Given the description of an element on the screen output the (x, y) to click on. 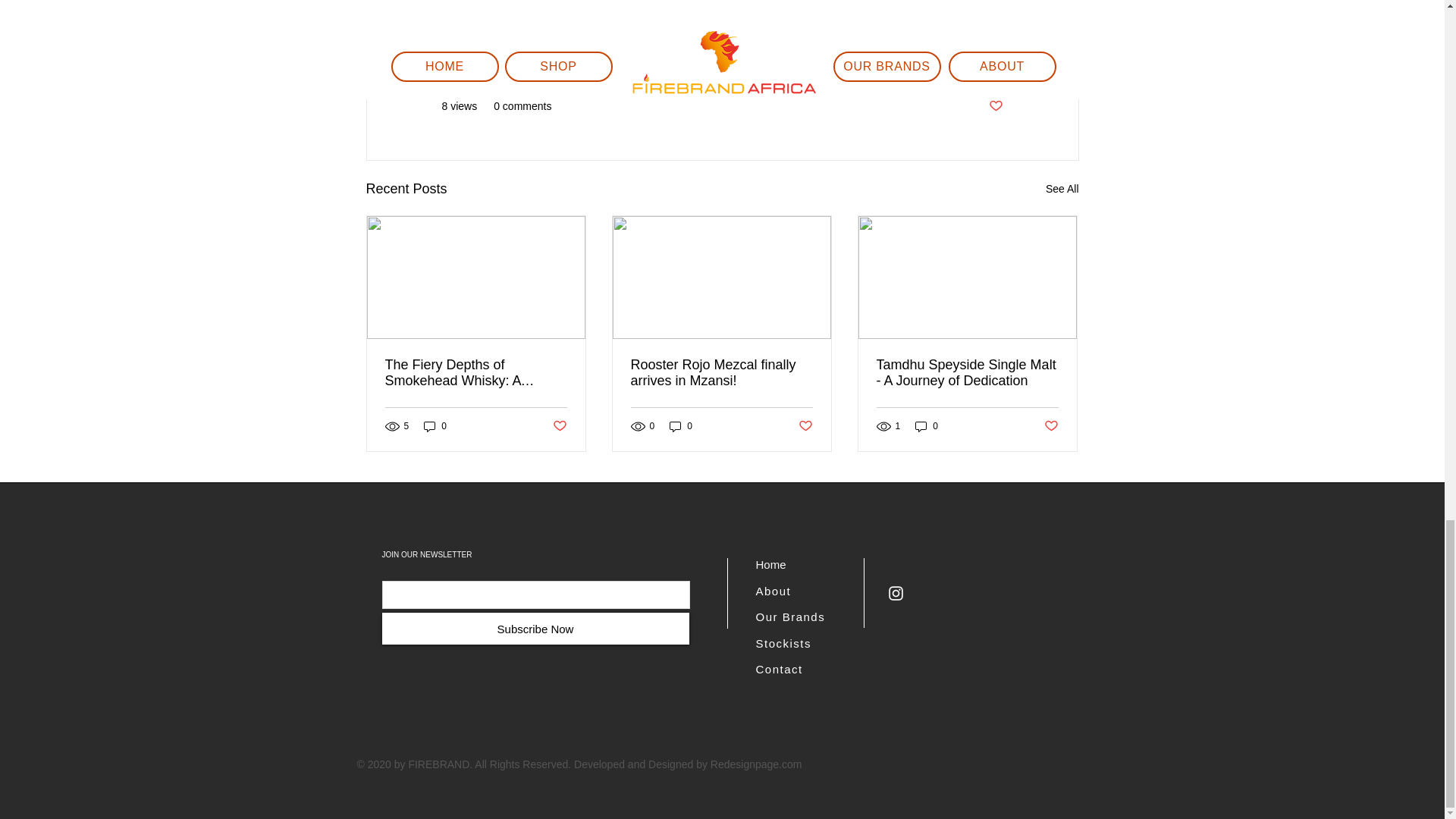
Home (770, 563)
Rooster Rojo Mezcal finally arrives in Mzansi! (721, 373)
Subscribe Now (534, 628)
Post not marked as liked (558, 426)
Post not marked as liked (1050, 426)
About (772, 590)
Stockists (782, 643)
Post not marked as liked (995, 106)
0 (926, 425)
Post not marked as liked (804, 426)
0 (435, 425)
See All (1061, 188)
0 (681, 425)
Tamdhu Speyside Single Malt - A Journey of Dedication (967, 373)
